Given the description of an element on the screen output the (x, y) to click on. 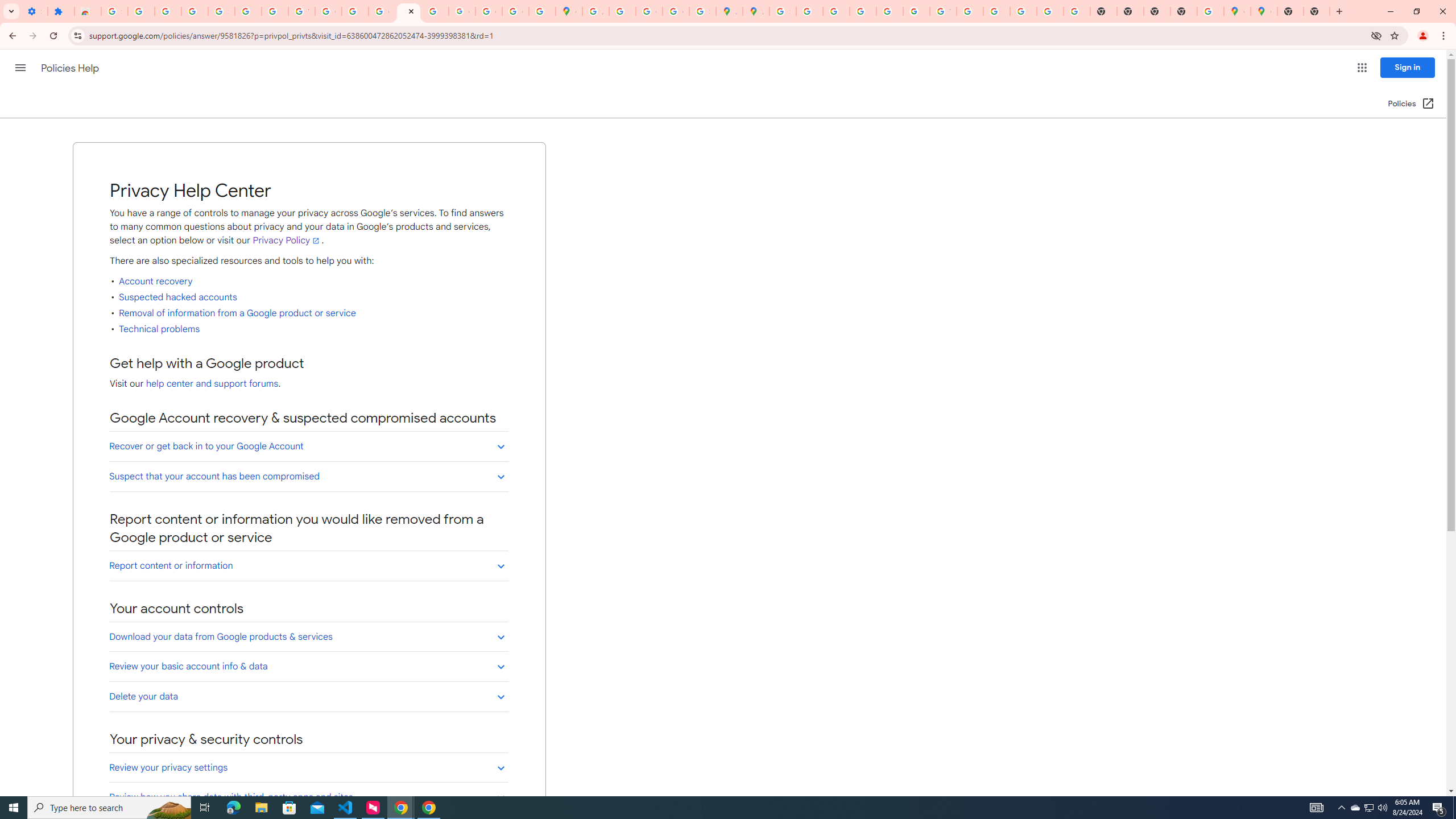
Removal of information from a Google product or service (237, 313)
https://scholar.google.com/ (355, 11)
Download your data from Google products & services (308, 636)
Privacy Help Center - Policies Help (408, 11)
Policies Help (70, 68)
Sign in - Google Accounts (221, 11)
Policies (Open in a new window) (1411, 103)
